Given the description of an element on the screen output the (x, y) to click on. 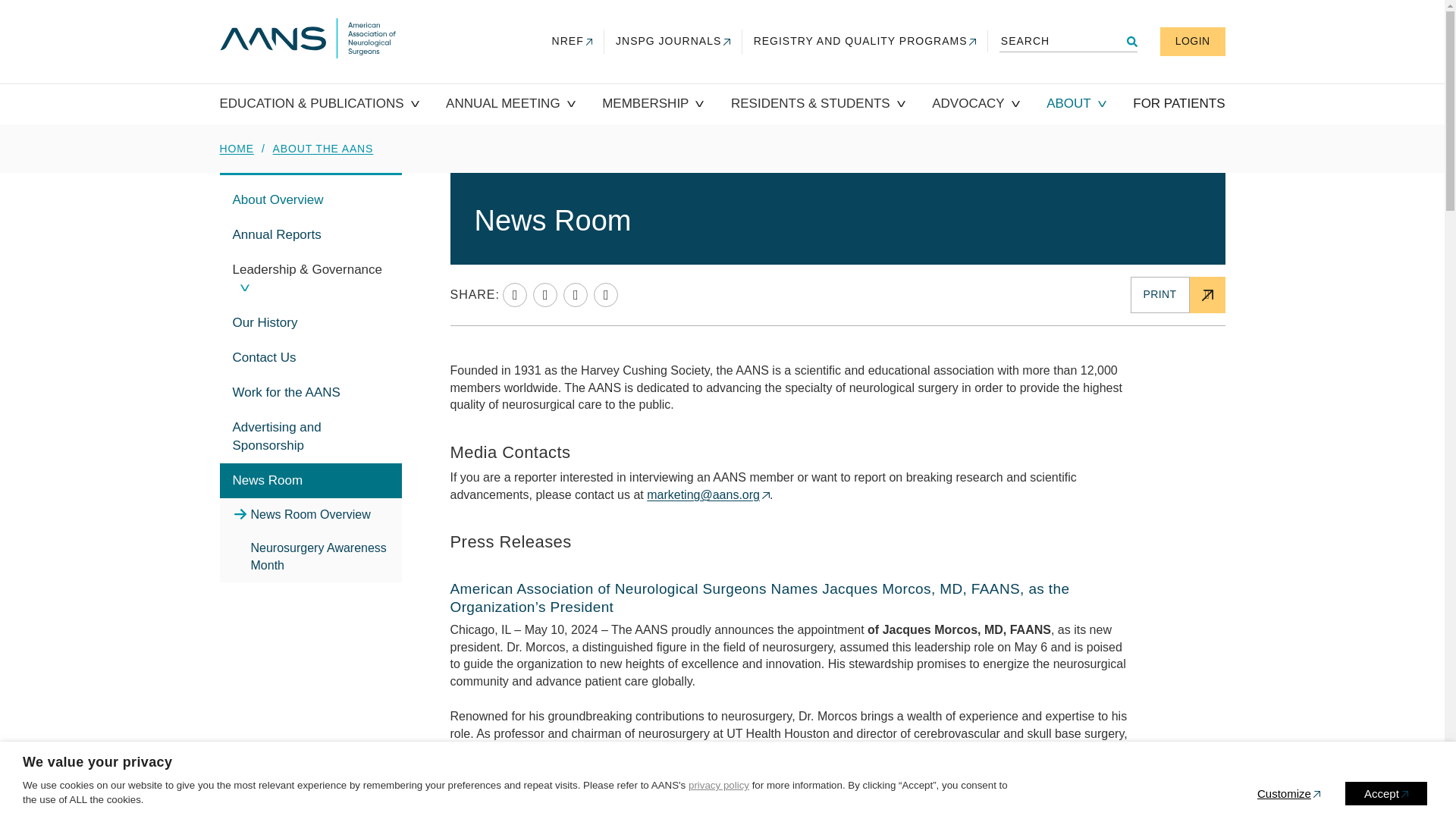
Click to share on X (605, 294)
Click to share on Link (514, 294)
Click to share on LinkedIn (544, 294)
Click to share on Facebook (575, 294)
AANS (307, 39)
